Given the description of an element on the screen output the (x, y) to click on. 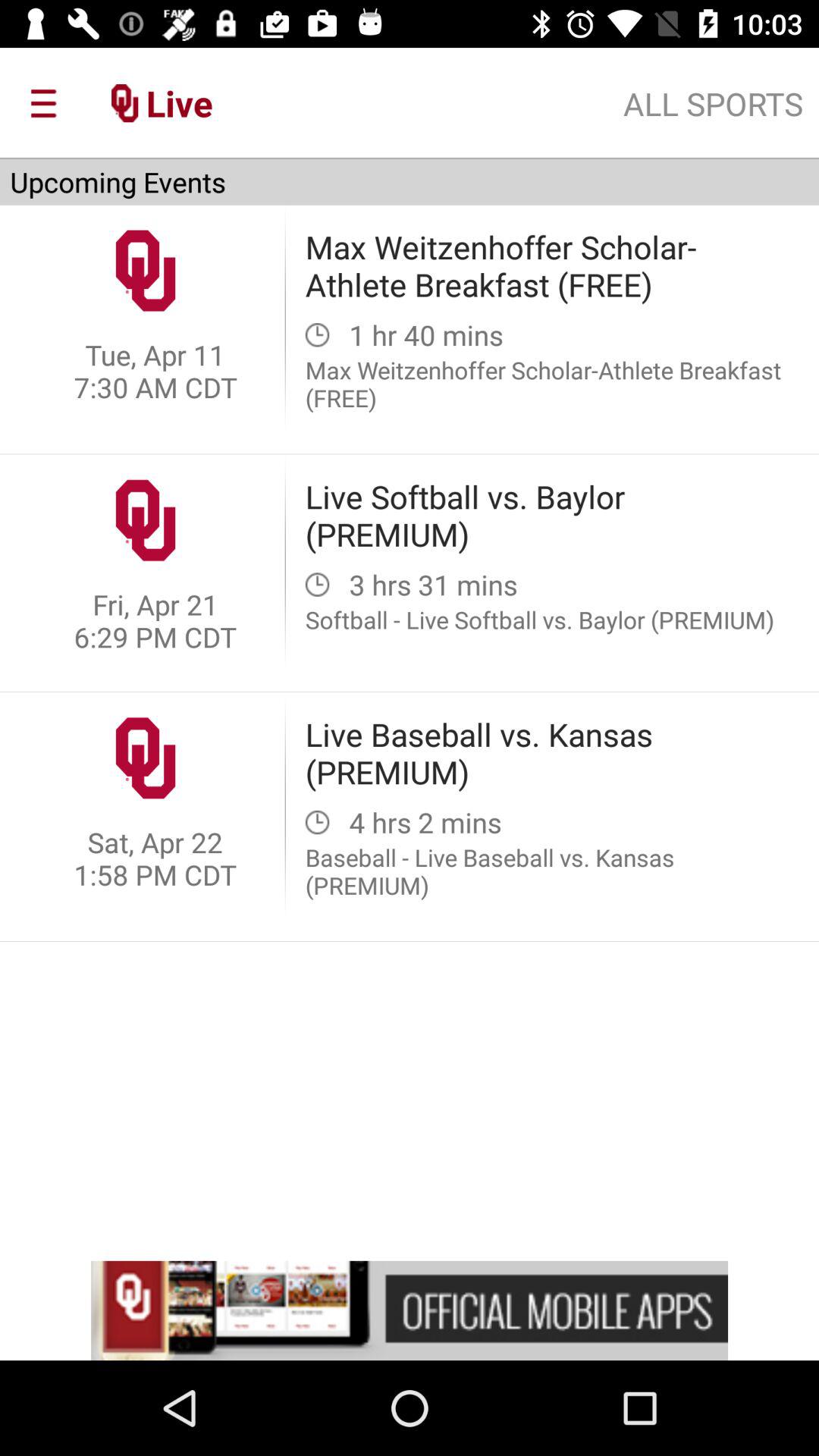
click on button at top right (713, 103)
click on the first logo under upcoming events (144, 270)
